Given the description of an element on the screen output the (x, y) to click on. 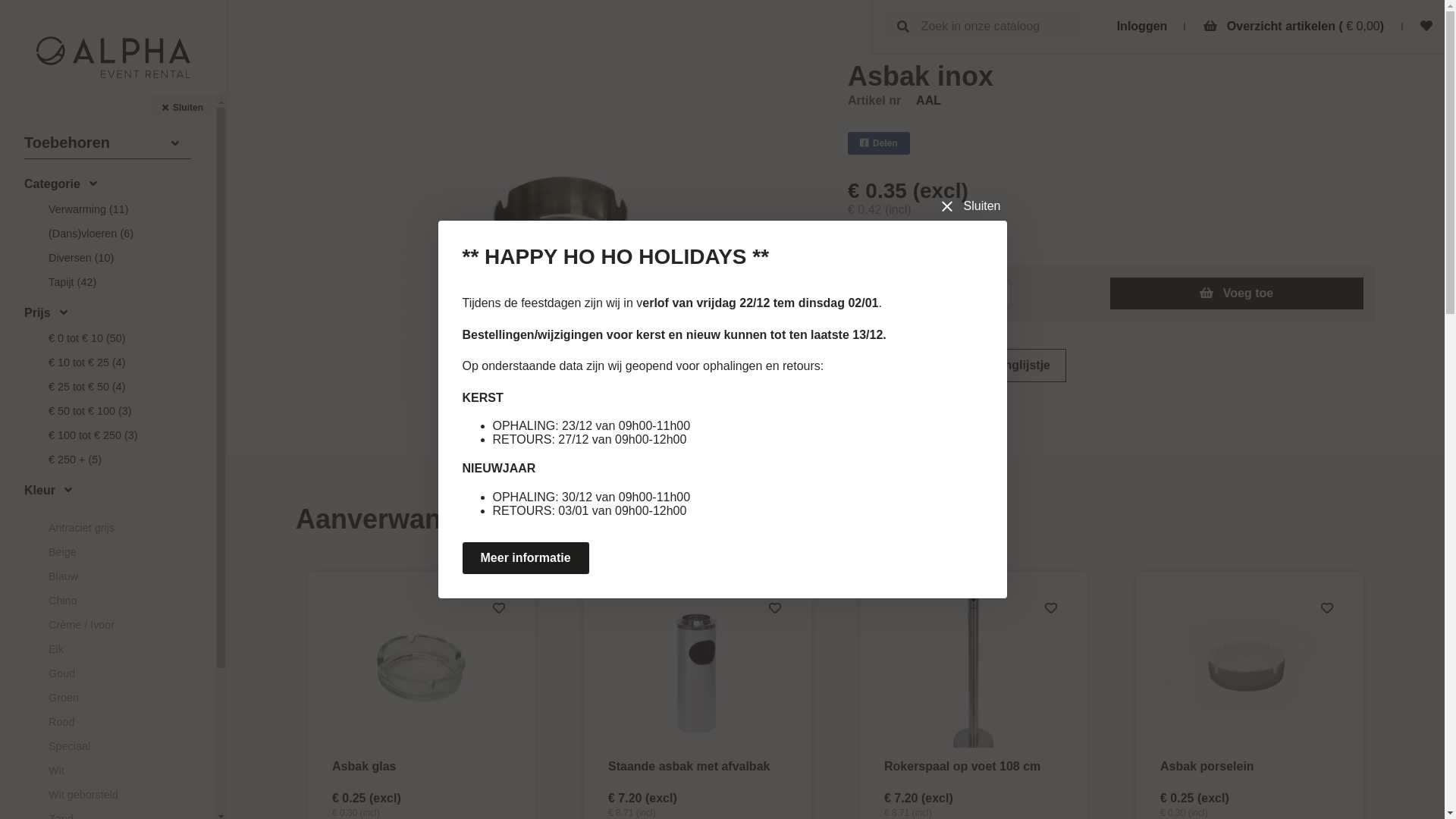
Mijn verlanglijst Element type: text (70, 447)
Delen Element type: text (878, 142)
Tafelmaterialen Element type: text (65, 225)
Toevoegen aan verlanglijstje Element type: hover (1050, 608)
Stoelen en tafels Element type: text (69, 146)
Handleidingen Element type: text (65, 427)
Decoratie & planten Element type: text (77, 206)
Verlichting Element type: text (52, 245)
TE HUUR Element type: text (56, 125)
Toevoegen aan verlanglijstje Element type: hover (498, 608)
Sluiten Element type: text (182, 107)
Springkastelen Element type: text (64, 304)
Voeg toe Element type: text (1236, 293)
Toevoegen aan verlanglijstje Element type: text (956, 365)
Over ons Element type: text (50, 388)
Inspiratie Element type: text (51, 348)
Toevoegen aan verlanglijstje Element type: hover (774, 608)
Alphatent Element type: hover (113, 57)
Meer informatie Element type: text (525, 558)
Toebehoren Element type: text (58, 265)
FAQ Element type: text (36, 368)
Tenten by Stretched.be Element type: text (86, 284)
Bars Element type: text (36, 186)
Toevoegen aan verlanglijstje Element type: hover (1326, 608)
Contact Element type: text (46, 407)
Mijn verlanglijst Element type: hover (1426, 25)
Lounges Element type: text (47, 166)
Inloggen Element type: text (1142, 25)
Sluiten Element type: text (973, 205)
